Given the description of an element on the screen output the (x, y) to click on. 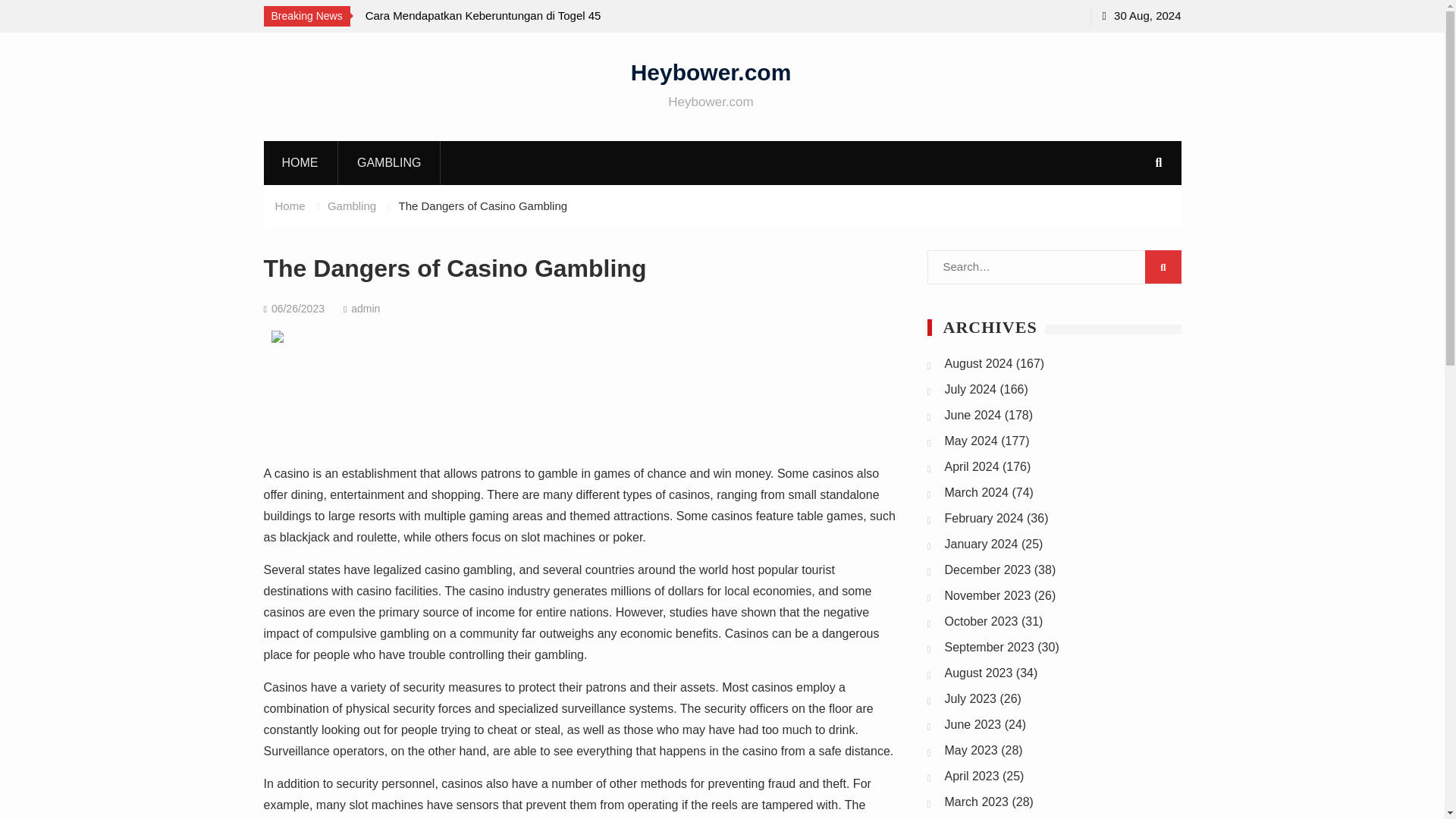
GAMBLING (389, 162)
May 2024 (970, 440)
Gambling (351, 205)
June 2024 (972, 414)
January 2024 (980, 543)
November 2023 (987, 594)
July 2024 (970, 389)
HOME (299, 162)
April 2024 (971, 466)
March 2024 (976, 492)
